Given the description of an element on the screen output the (x, y) to click on. 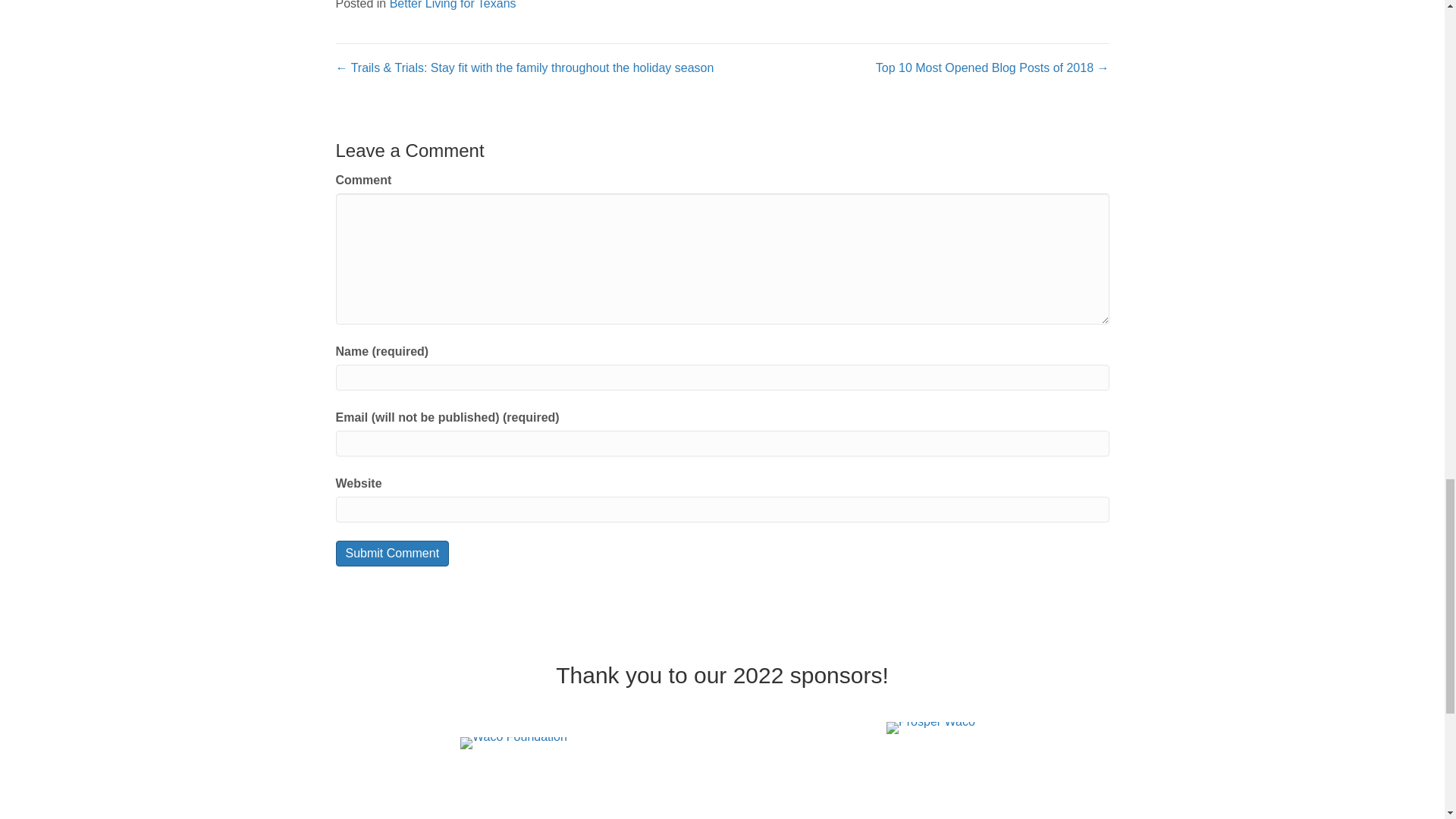
Submit Comment (391, 552)
Better Living for Texans (453, 4)
Submit Comment (391, 552)
